Given the description of an element on the screen output the (x, y) to click on. 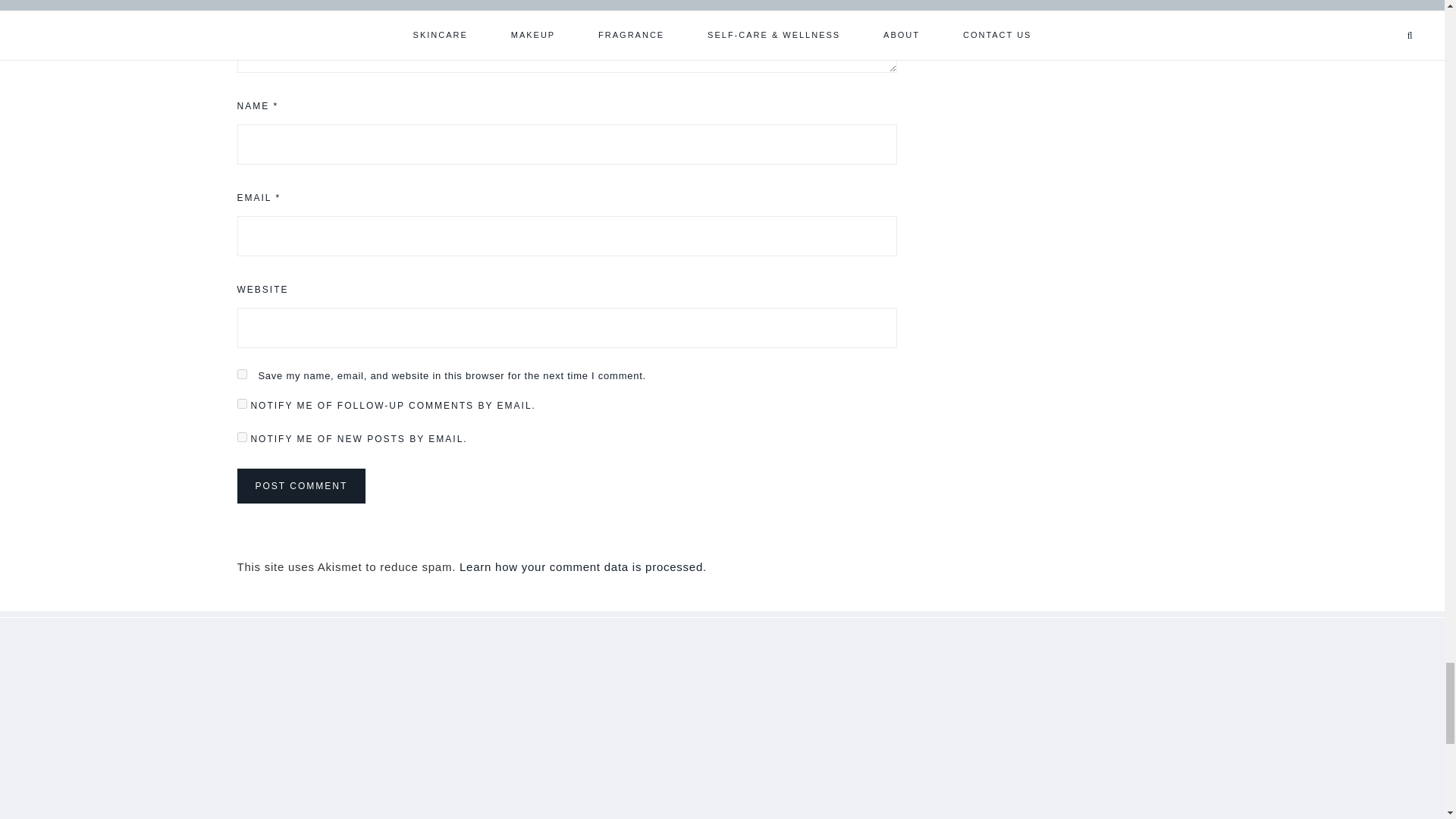
subscribe (240, 437)
Post Comment (300, 485)
yes (240, 374)
subscribe (240, 403)
